Given the description of an element on the screen output the (x, y) to click on. 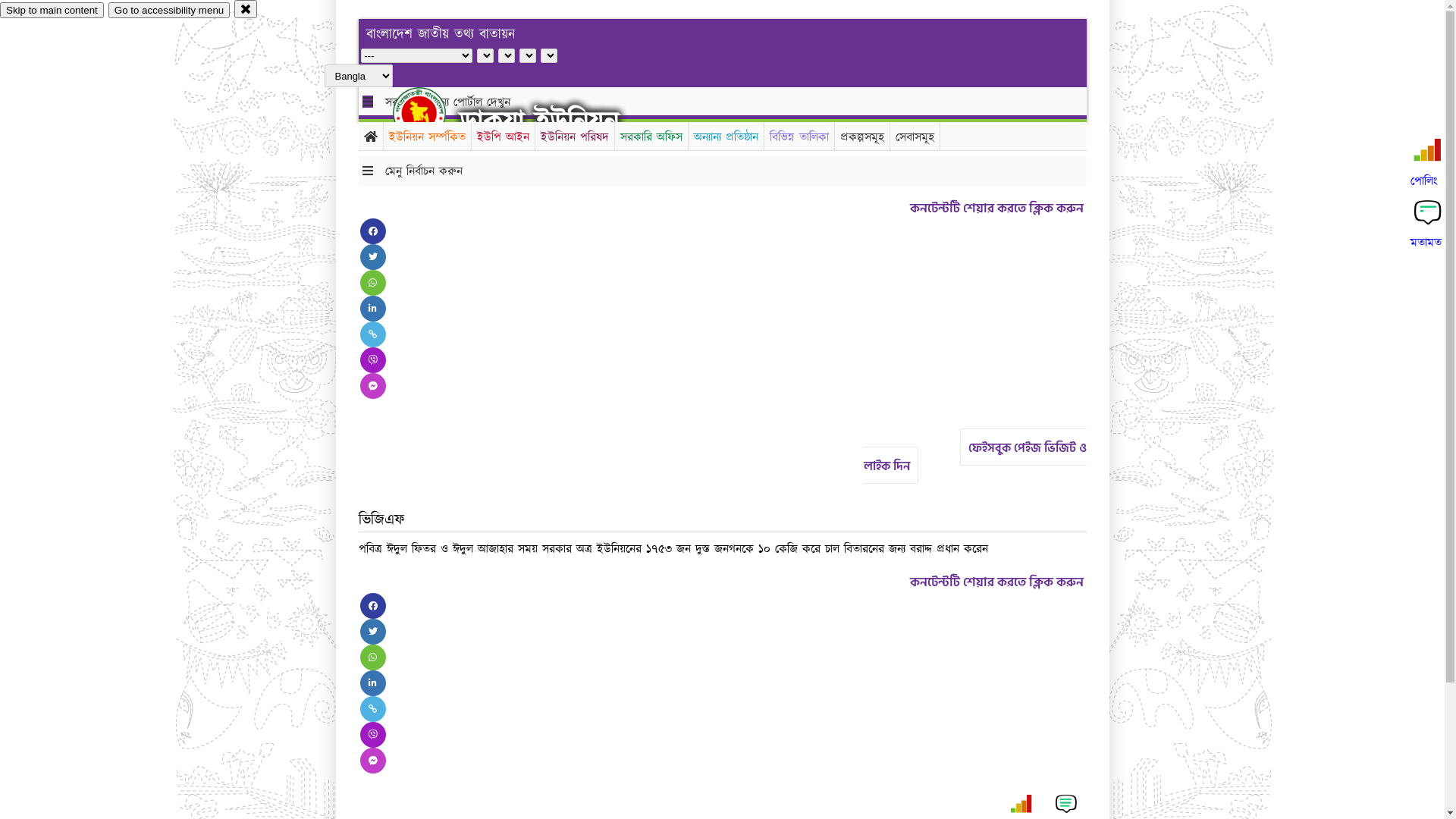
Skip to main content Element type: text (51, 10)
close Element type: hover (245, 9)
Go to accessibility menu Element type: text (168, 10)

                
             Element type: hover (431, 112)
